Given the description of an element on the screen output the (x, y) to click on. 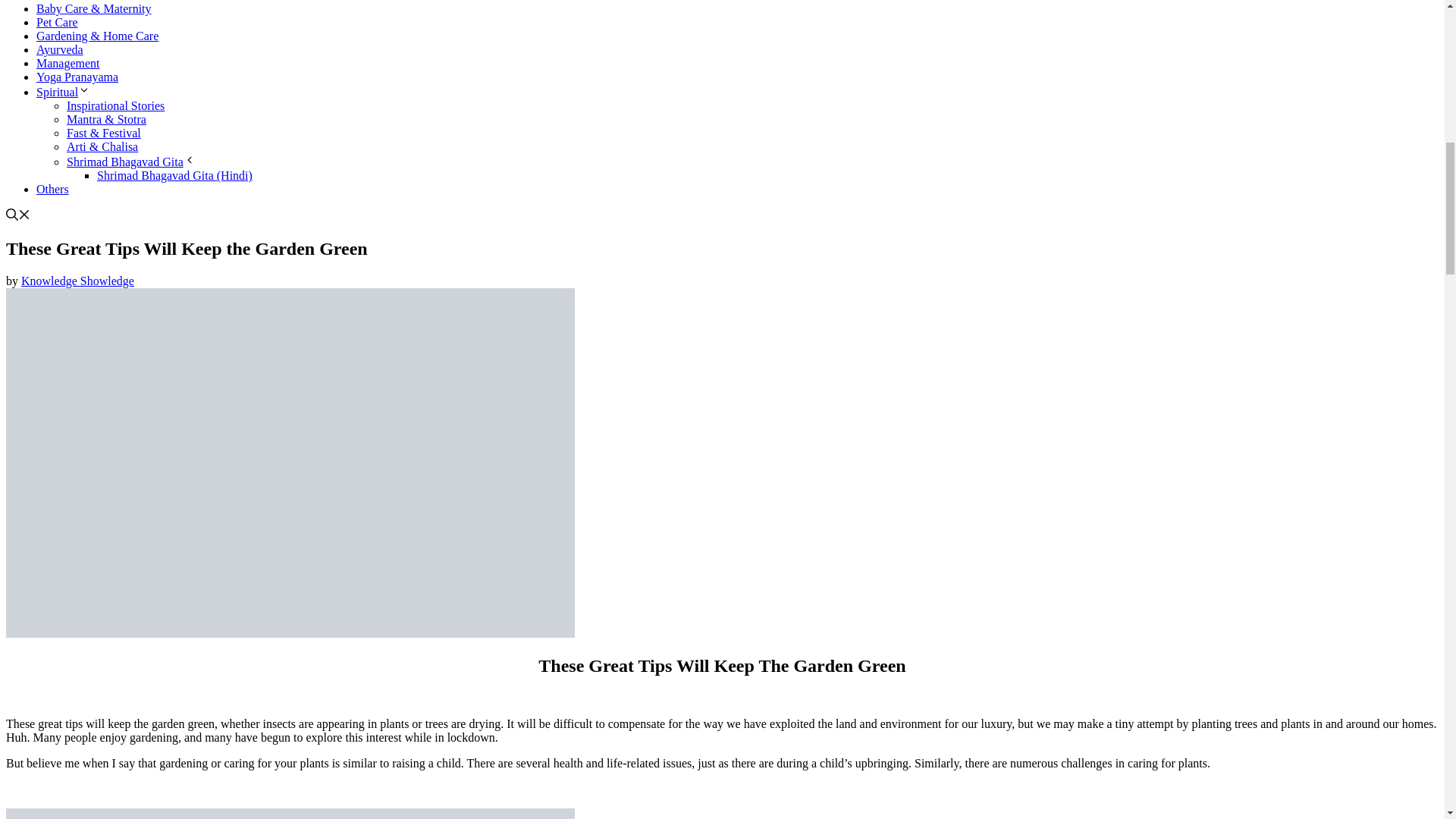
Knowledge Showledge (77, 280)
Yoga Pranayama (76, 76)
Ayurveda (59, 49)
View all posts by Knowledge Showledge (77, 280)
Others (52, 188)
Shrimad Bhagavad Gita (130, 161)
Management (68, 62)
Spiritual (63, 91)
Pet Care (57, 21)
Inspirational Stories (115, 105)
